Given the description of an element on the screen output the (x, y) to click on. 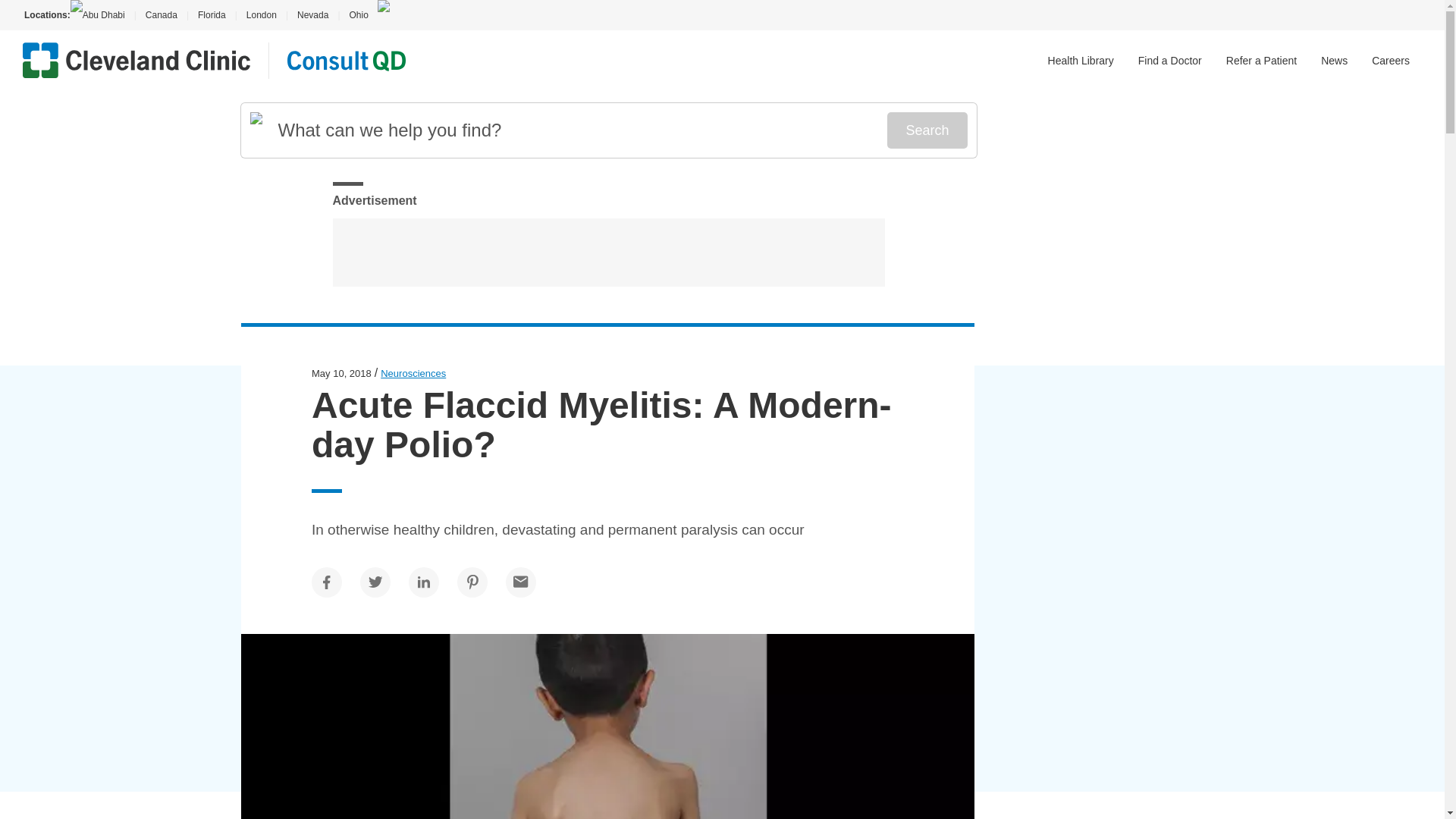
Florida (211, 15)
Abu Dhabi (101, 15)
Canada (161, 15)
News (1334, 60)
Careers (1390, 60)
Find a Doctor (1170, 60)
Neurosciences (412, 373)
London (261, 15)
Ohio (358, 15)
Health Library (1080, 60)
